Given the description of an element on the screen output the (x, y) to click on. 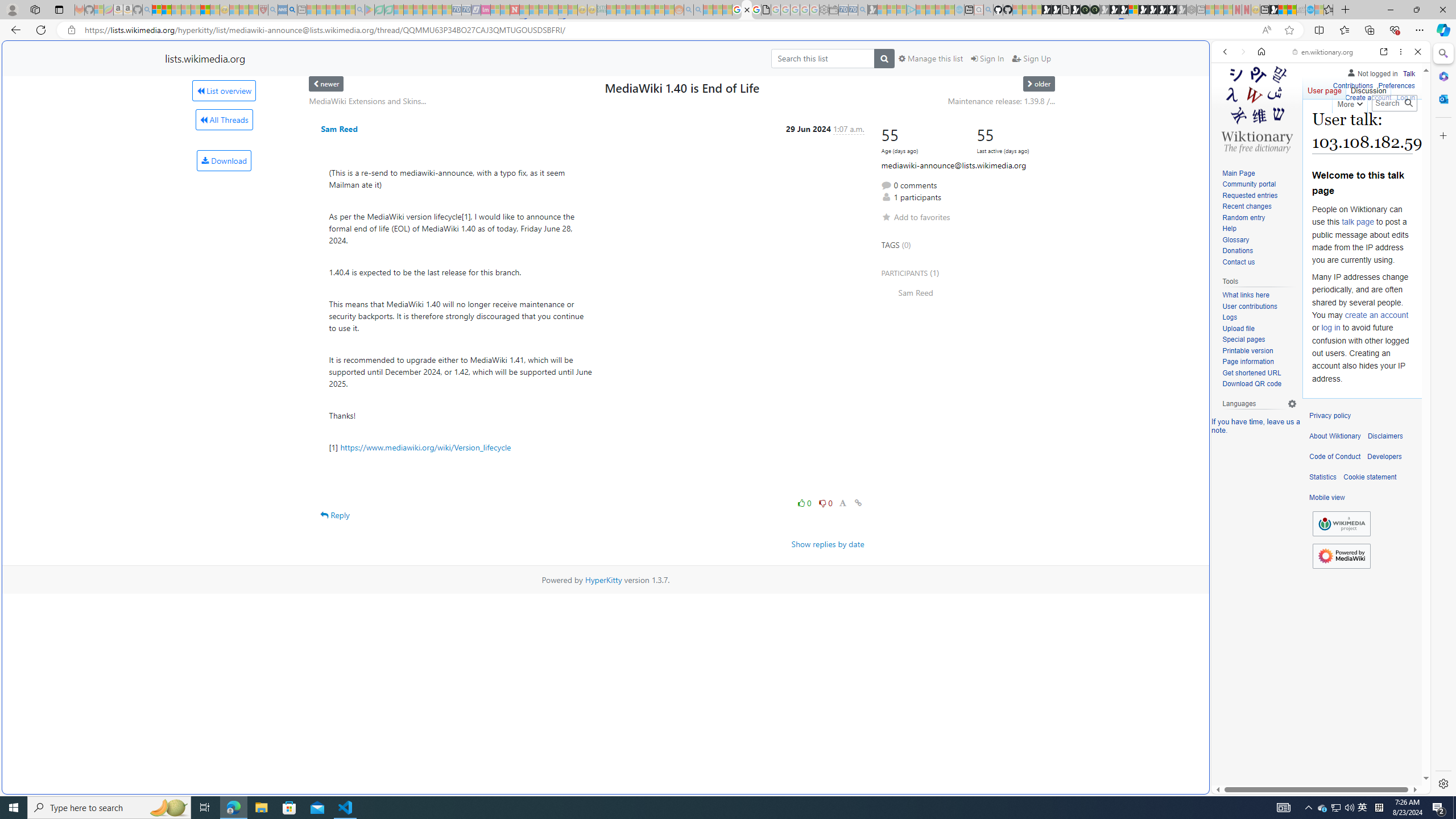
Recipes - MSN - Sleeping (234, 9)
VIDEOS (1300, 130)
github - Search - Sleeping (988, 9)
Create account (1367, 96)
Download QR code (1259, 383)
Contact us (1259, 262)
This site scope (1259, 102)
AutomationID: footer-copyrightico (1341, 523)
Wiktionary (1315, 380)
Sam Reed (967, 292)
